Given the description of an element on the screen output the (x, y) to click on. 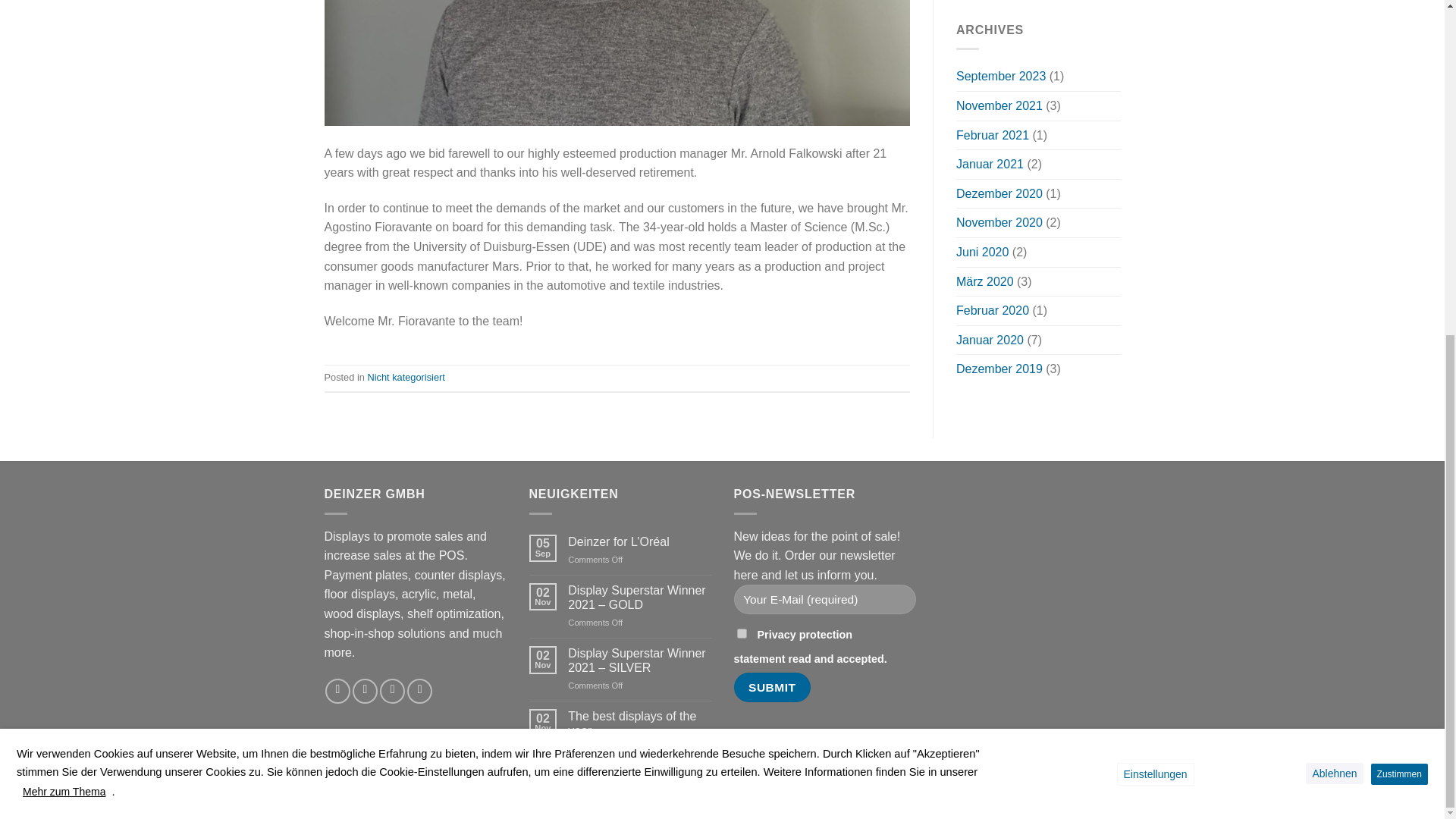
Follow on Facebook (337, 690)
Follow on LinkedIn (419, 690)
Send us an email (392, 690)
1 (741, 633)
Submit (771, 686)
Follow on Instagram (364, 690)
